Given the description of an element on the screen output the (x, y) to click on. 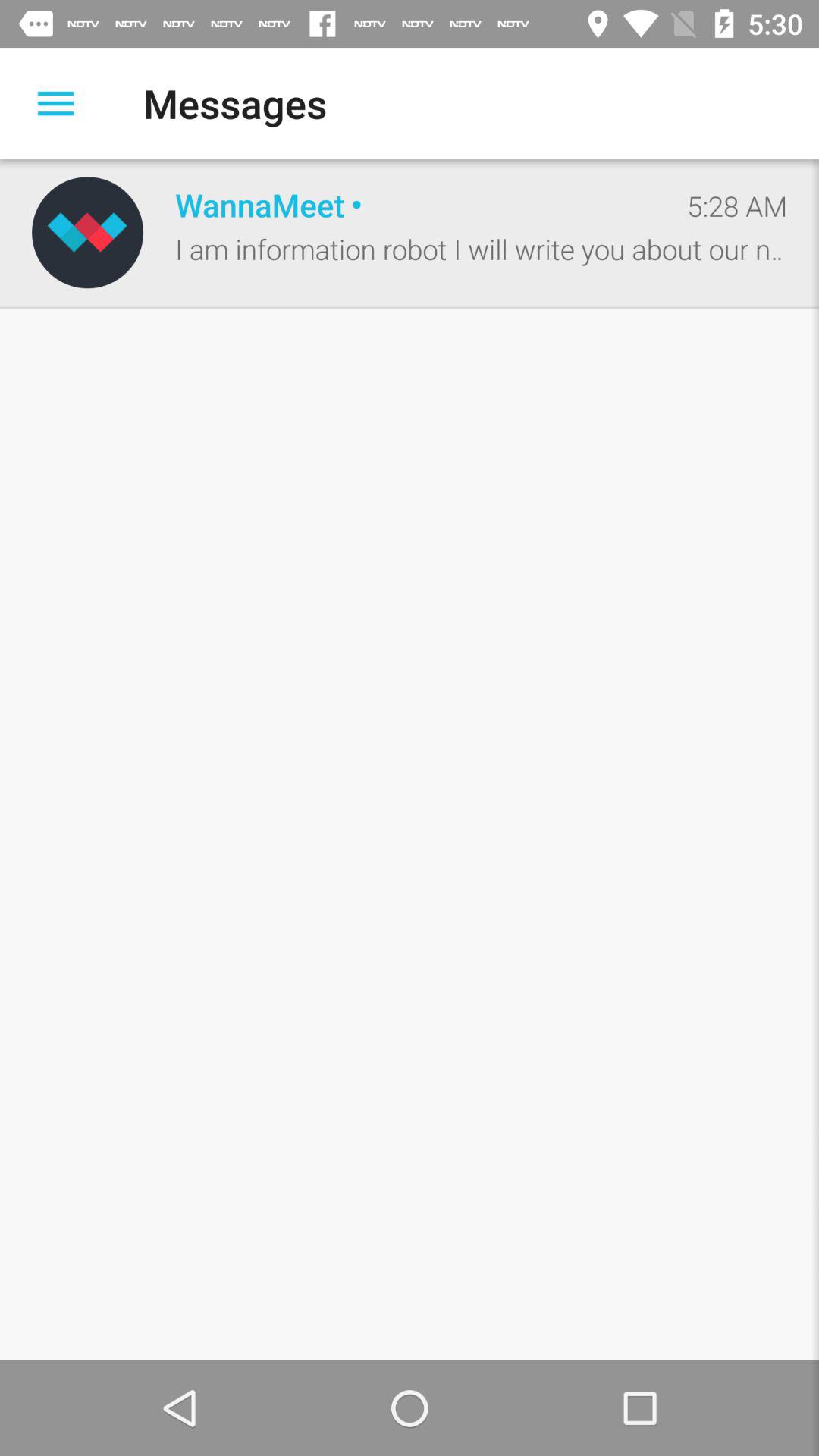
scroll until wannameet (415, 204)
